Given the description of an element on the screen output the (x, y) to click on. 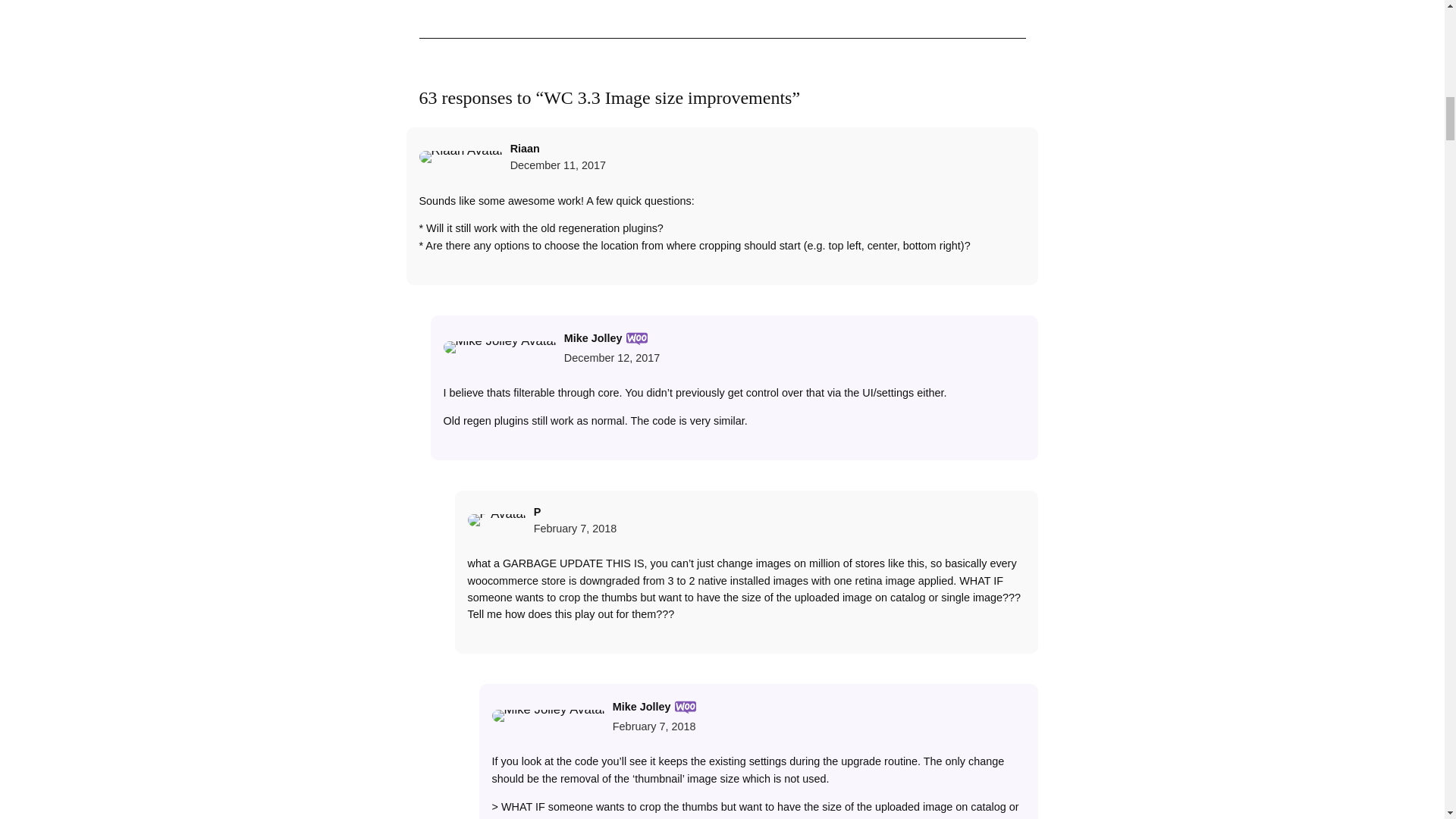
December 12, 2017 (611, 357)
Mike Jolley (593, 337)
December 11, 2017 (558, 164)
February 7, 2018 (575, 528)
Riaan (525, 148)
February 7, 2018 (653, 726)
Mike Jolley (641, 706)
